Given the description of an element on the screen output the (x, y) to click on. 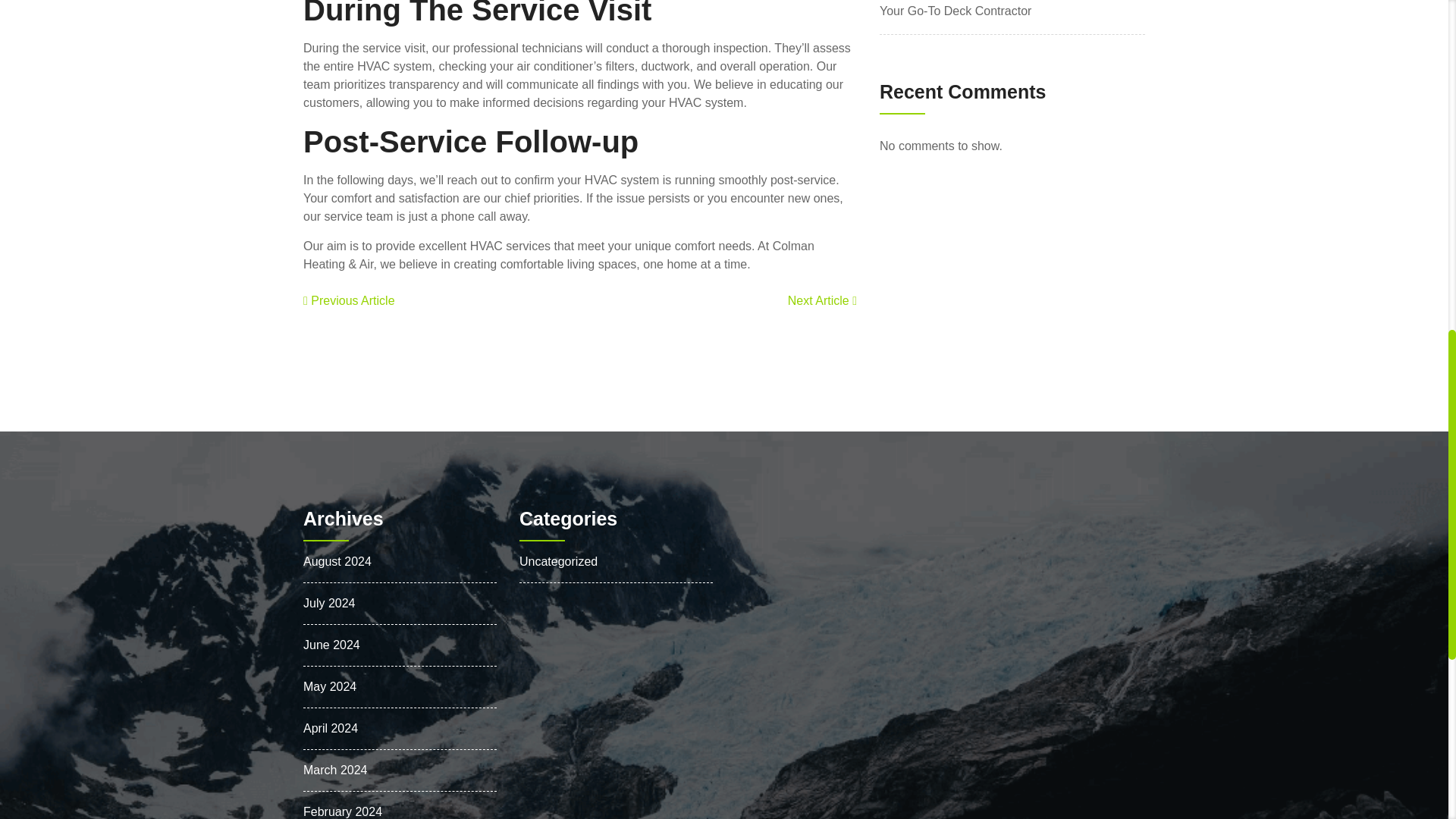
Next Article (822, 300)
July 2024 (328, 603)
February 2024 (341, 811)
April 2024 (330, 727)
Previous Article (348, 300)
March 2024 (335, 769)
June 2024 (330, 644)
Uncategorized (557, 561)
August 2024 (336, 561)
May 2024 (329, 686)
